Given the description of an element on the screen output the (x, y) to click on. 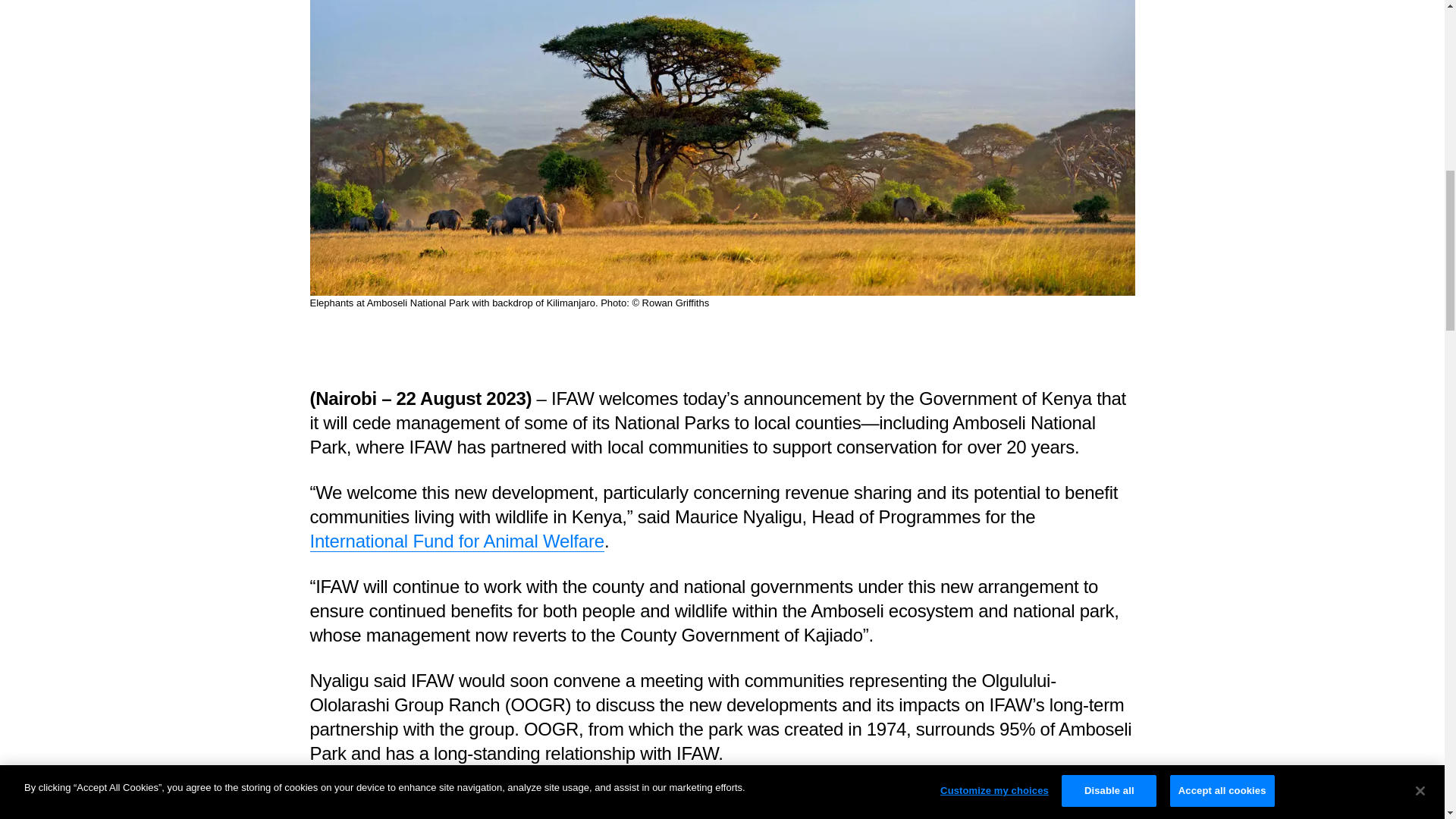
International Fund for Animal Welfare (456, 541)
